Given the description of an element on the screen output the (x, y) to click on. 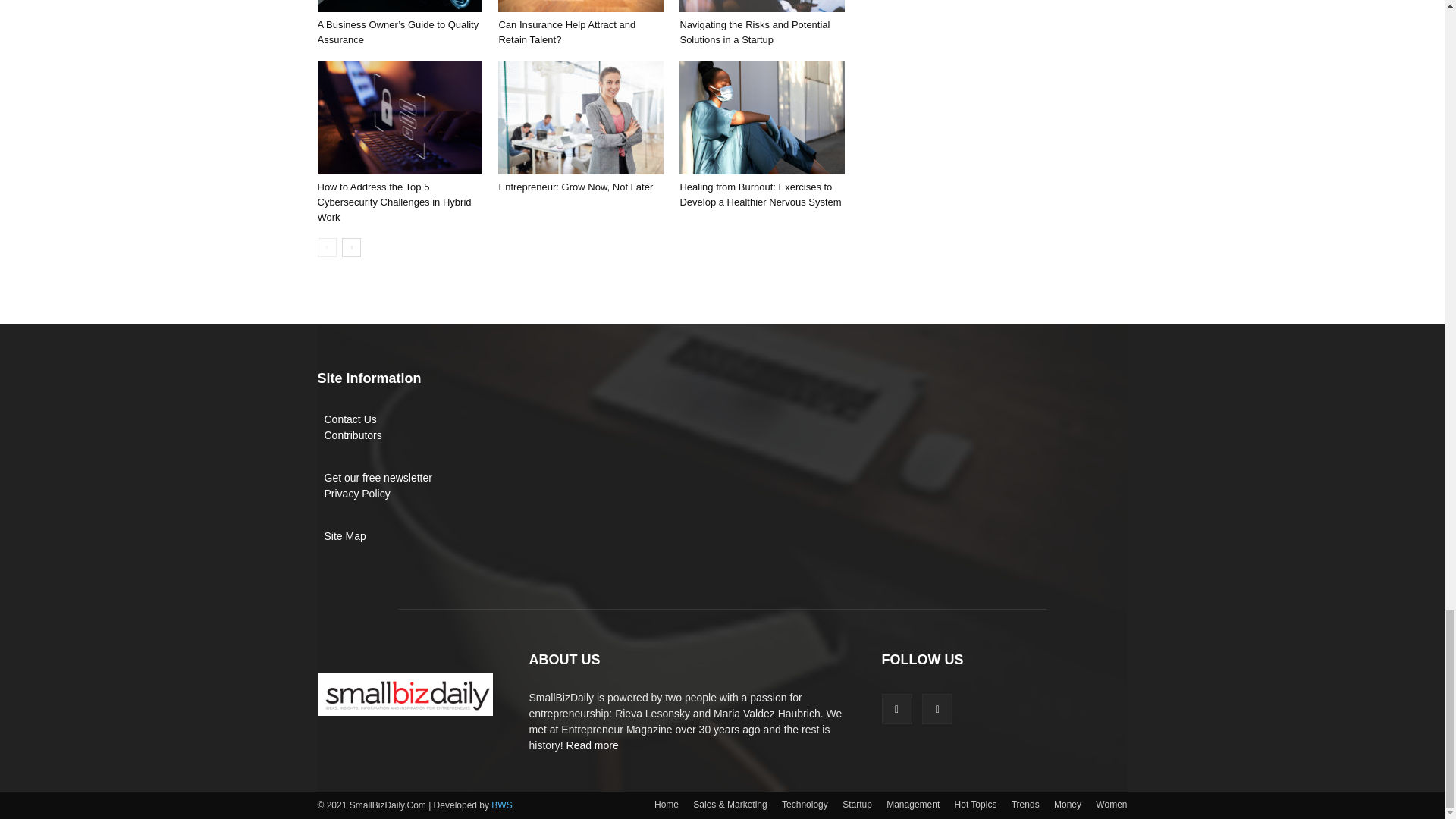
Navigating the Risks and Potential Solutions in a Startup (754, 31)
Can Insurance Help Attract and Retain Talent? (580, 6)
Navigating the Risks and Potential Solutions in a Startup (761, 6)
Entrepreneur: Grow Now, Not Later (580, 117)
Can Insurance Help Attract and Retain Talent? (565, 31)
